Given the description of an element on the screen output the (x, y) to click on. 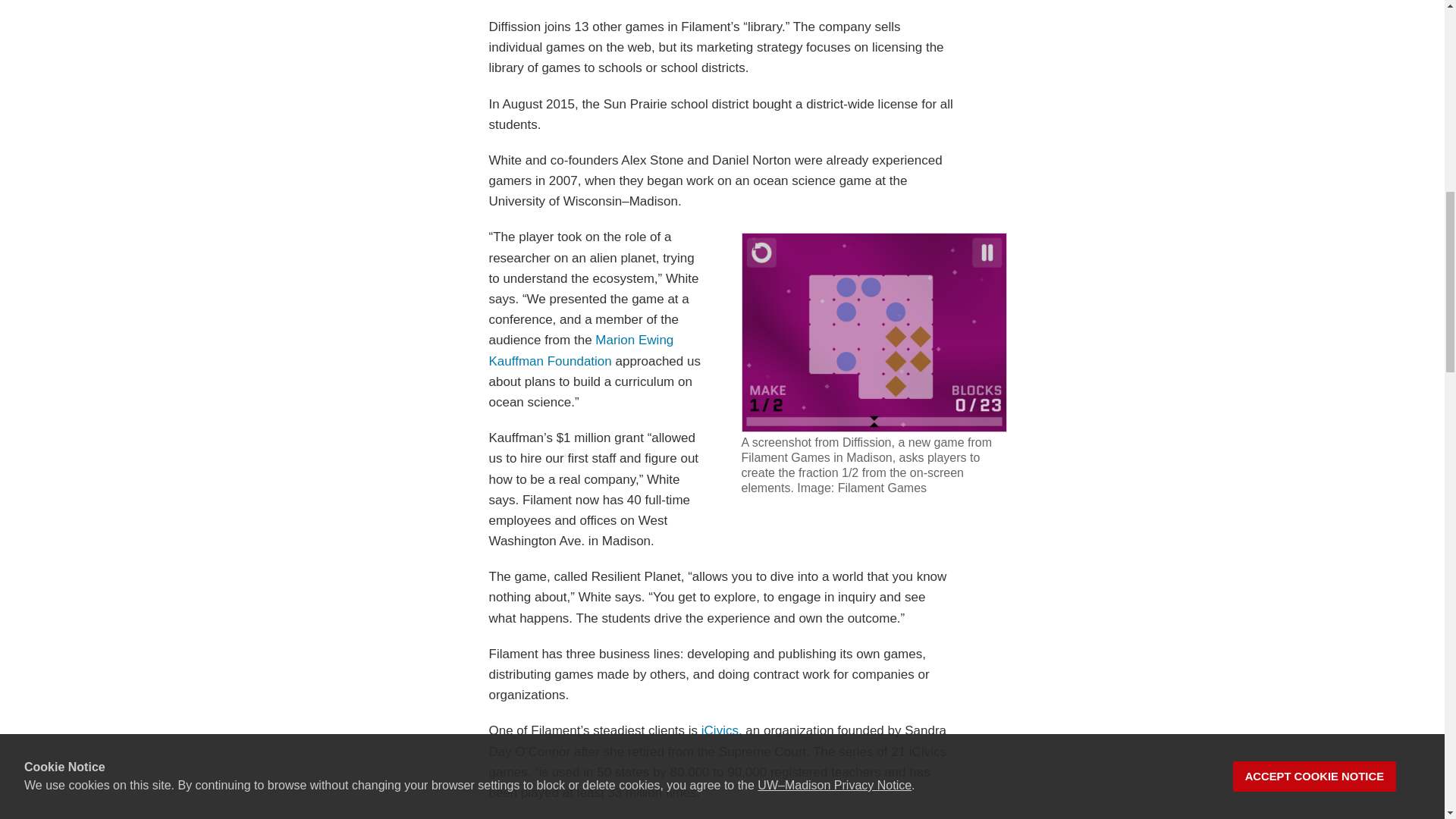
Marion Ewing Kauffman Foundation (579, 349)
iCivics (719, 730)
